Given the description of an element on the screen output the (x, y) to click on. 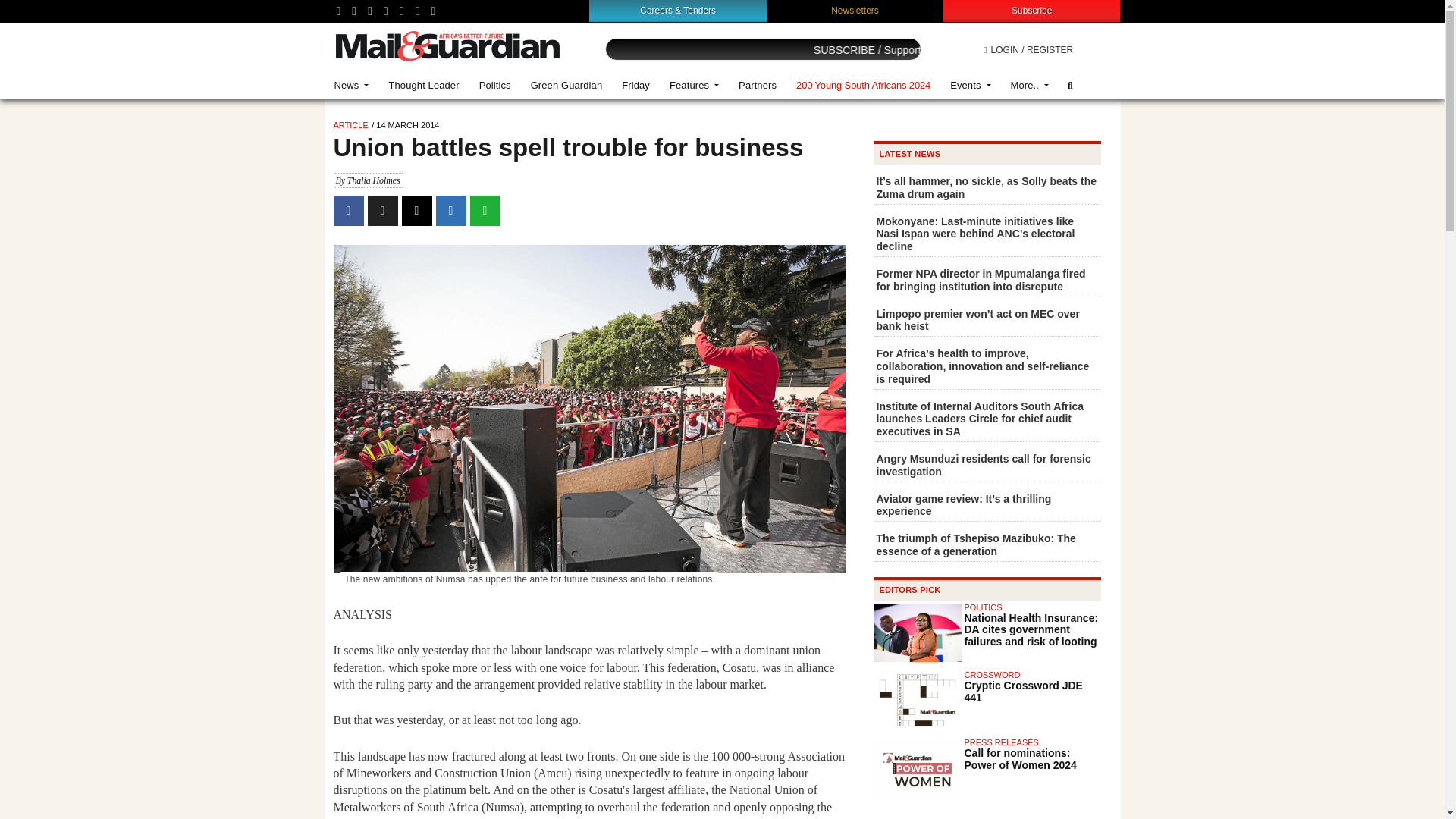
Thought Leader (423, 85)
Newsletters (855, 9)
Green Guardian (566, 85)
Friday (635, 85)
Features (694, 85)
Subscribe (1031, 9)
Politics (494, 85)
News (351, 85)
News (351, 85)
